Given the description of an element on the screen output the (x, y) to click on. 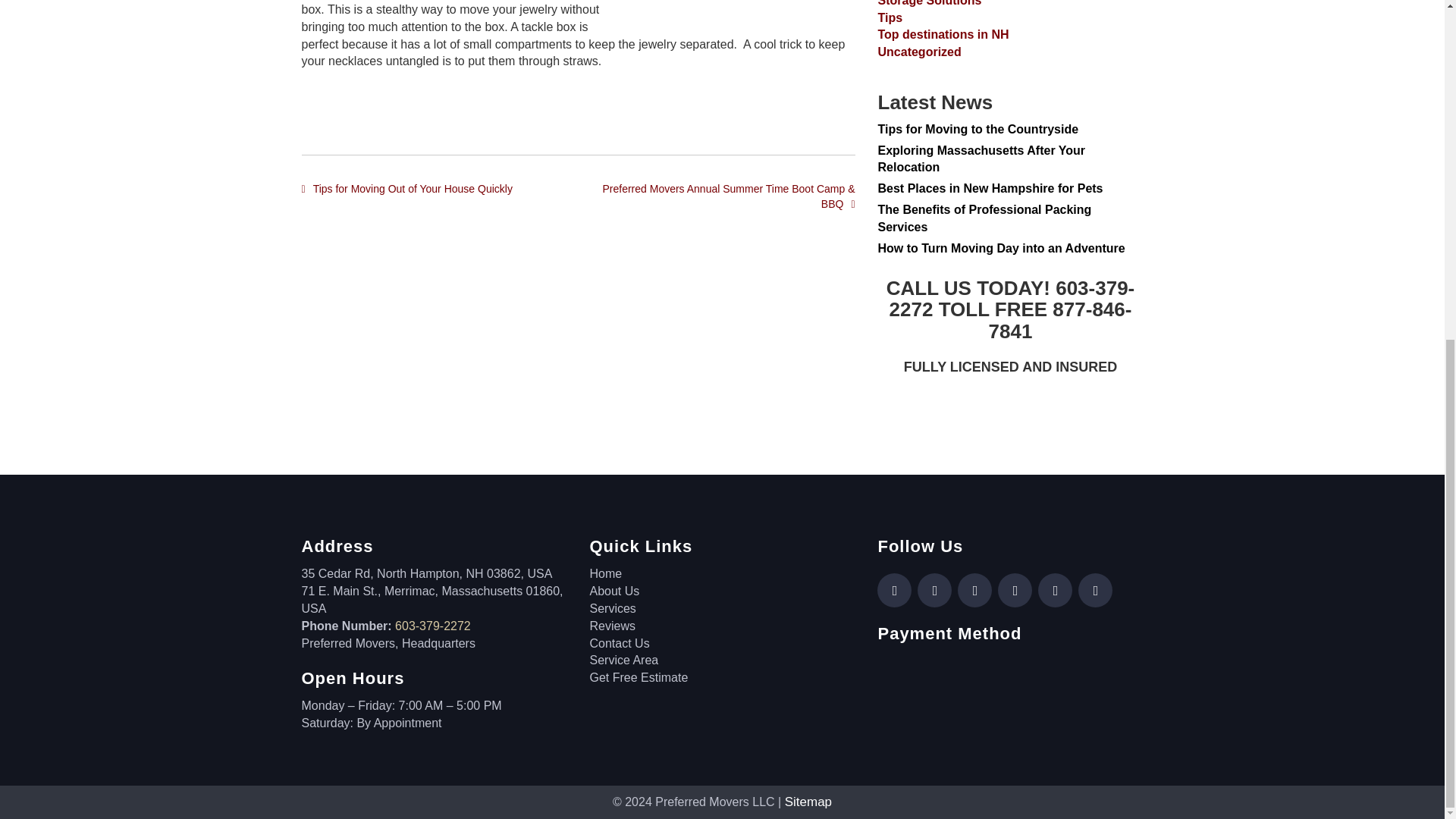
How to Turn Moving Day into an Adventure (1001, 247)
Storage Solutions (1009, 4)
Exploring Massachusetts After Your Relocation (981, 159)
Tips (1009, 18)
Top destinations in NH (1009, 35)
Uncategorized (1009, 52)
Tips for Moving to the Countryside (977, 128)
603-379-2272 (432, 625)
Tips for Moving Out of Your House Quickly (412, 188)
Best Places in New Hampshire for Pets (990, 187)
